Given the description of an element on the screen output the (x, y) to click on. 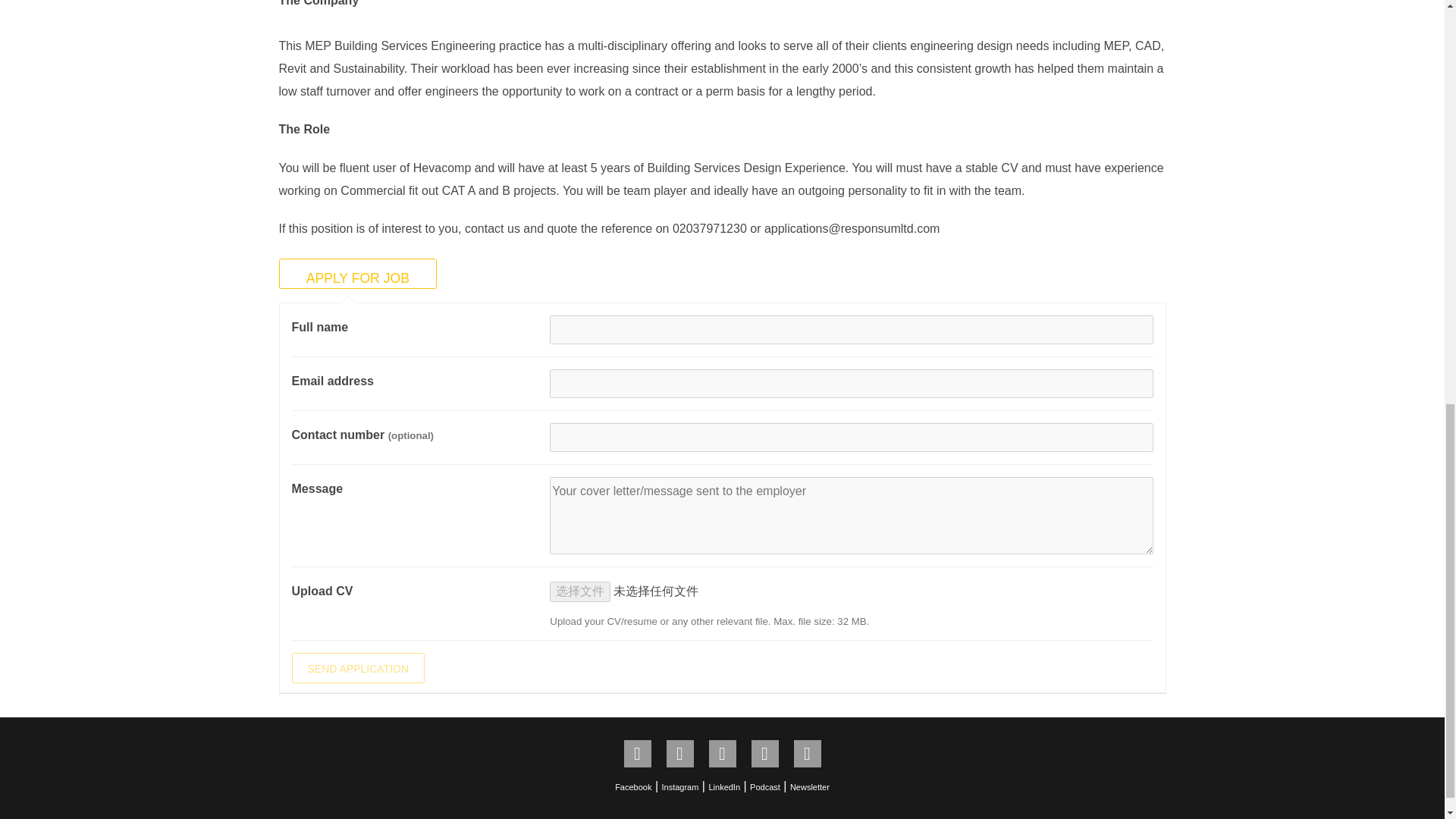
Instagram (679, 786)
Newsletter (809, 786)
Newsletter (807, 753)
Send application (358, 667)
Podcast (764, 786)
Instagram (679, 753)
LinkedIn (723, 786)
Facebook (632, 786)
Send application (358, 667)
LinkedIn (721, 753)
